Given the description of an element on the screen output the (x, y) to click on. 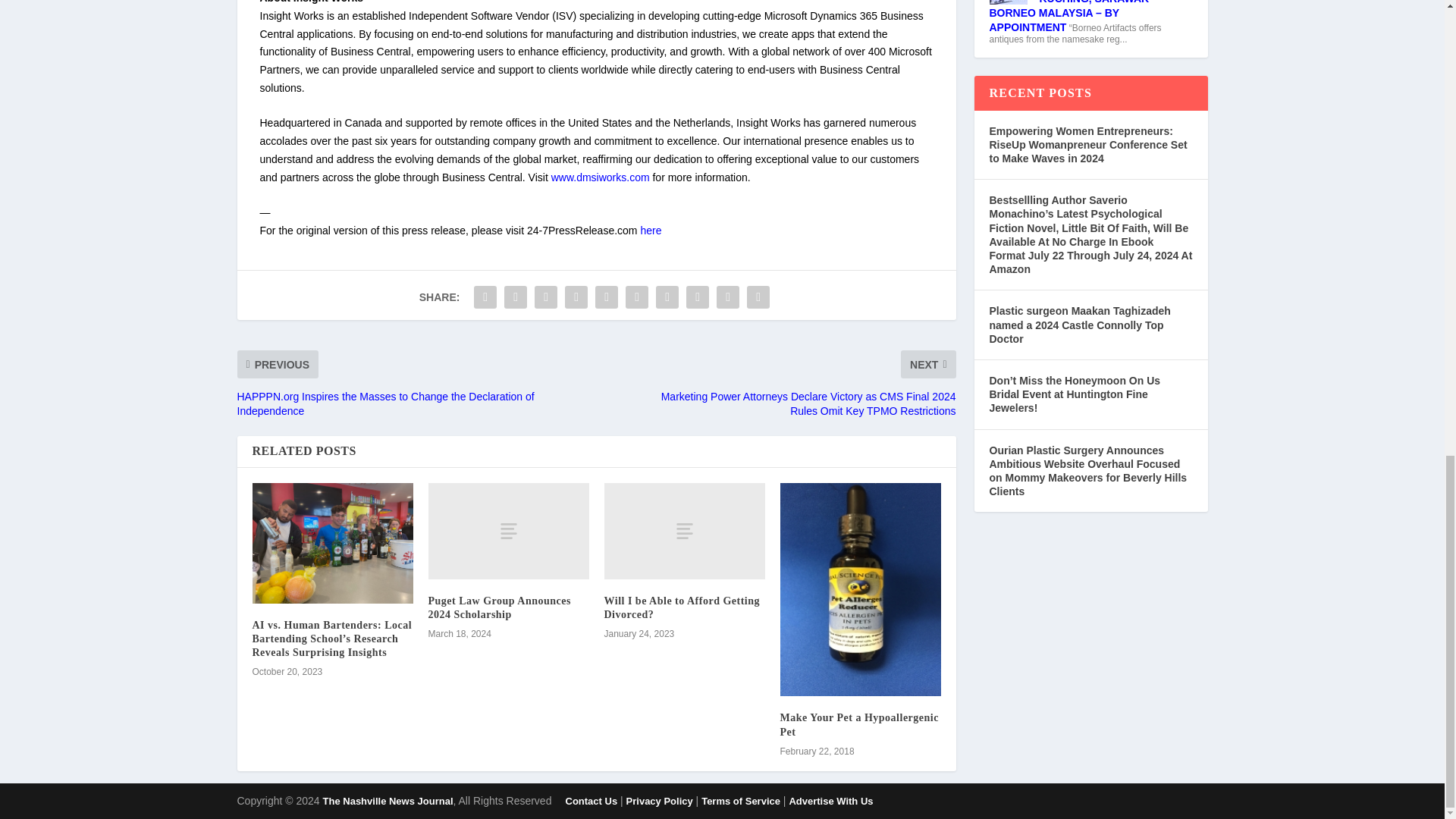
Make Your Pet a Hypoallergenic Pet (859, 589)
Puget Law Group Announces 2024 Scholarship (508, 531)
Will I be Able to Afford Getting Divorced? (684, 531)
here (650, 230)
www.dmsiworks.com (600, 177)
